Given the description of an element on the screen output the (x, y) to click on. 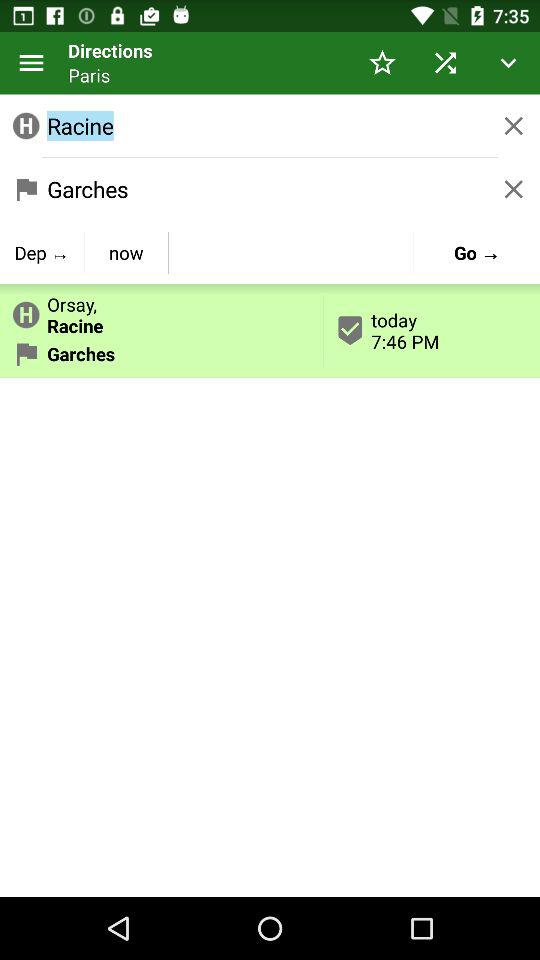
open app above garches item (161, 311)
